Given the description of an element on the screen output the (x, y) to click on. 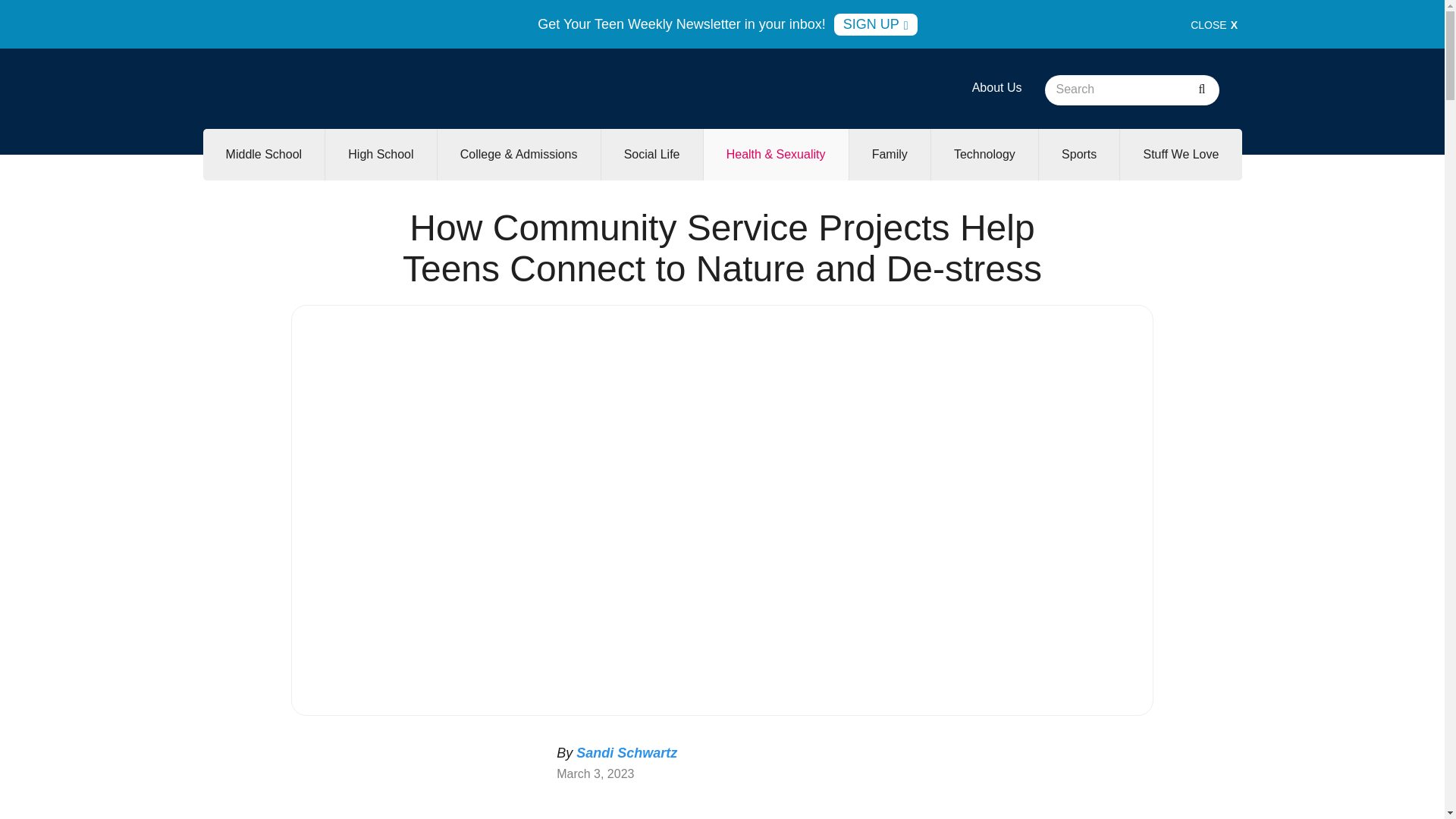
CLOSE (1214, 24)
Family (889, 154)
Middle School (263, 154)
Stuff We Love (1180, 154)
SIGN UP (875, 24)
About Us (997, 87)
Social Life (652, 154)
High School (379, 154)
Search (1201, 90)
